Given the description of an element on the screen output the (x, y) to click on. 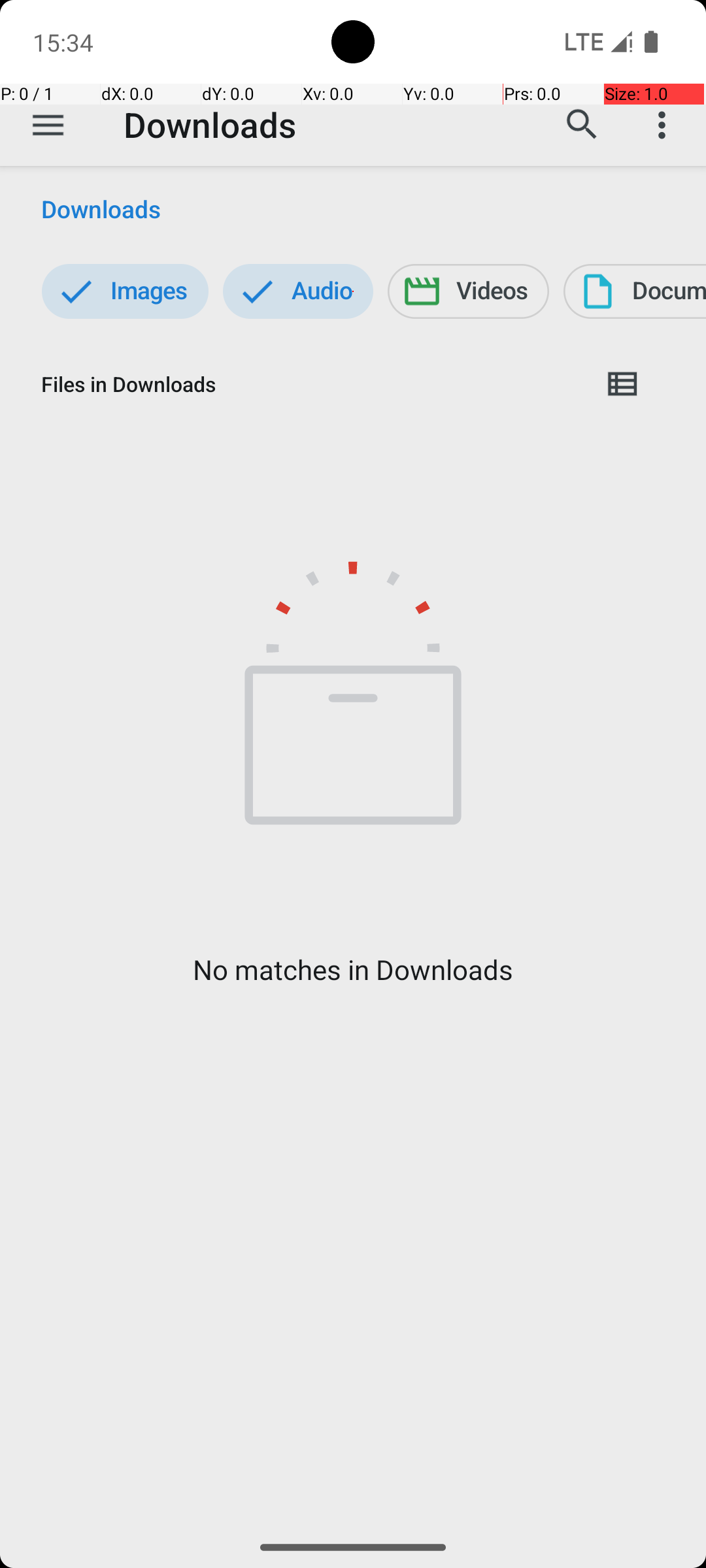
No matches in Downloads Element type: android.widget.TextView (352, 968)
